Given the description of an element on the screen output the (x, y) to click on. 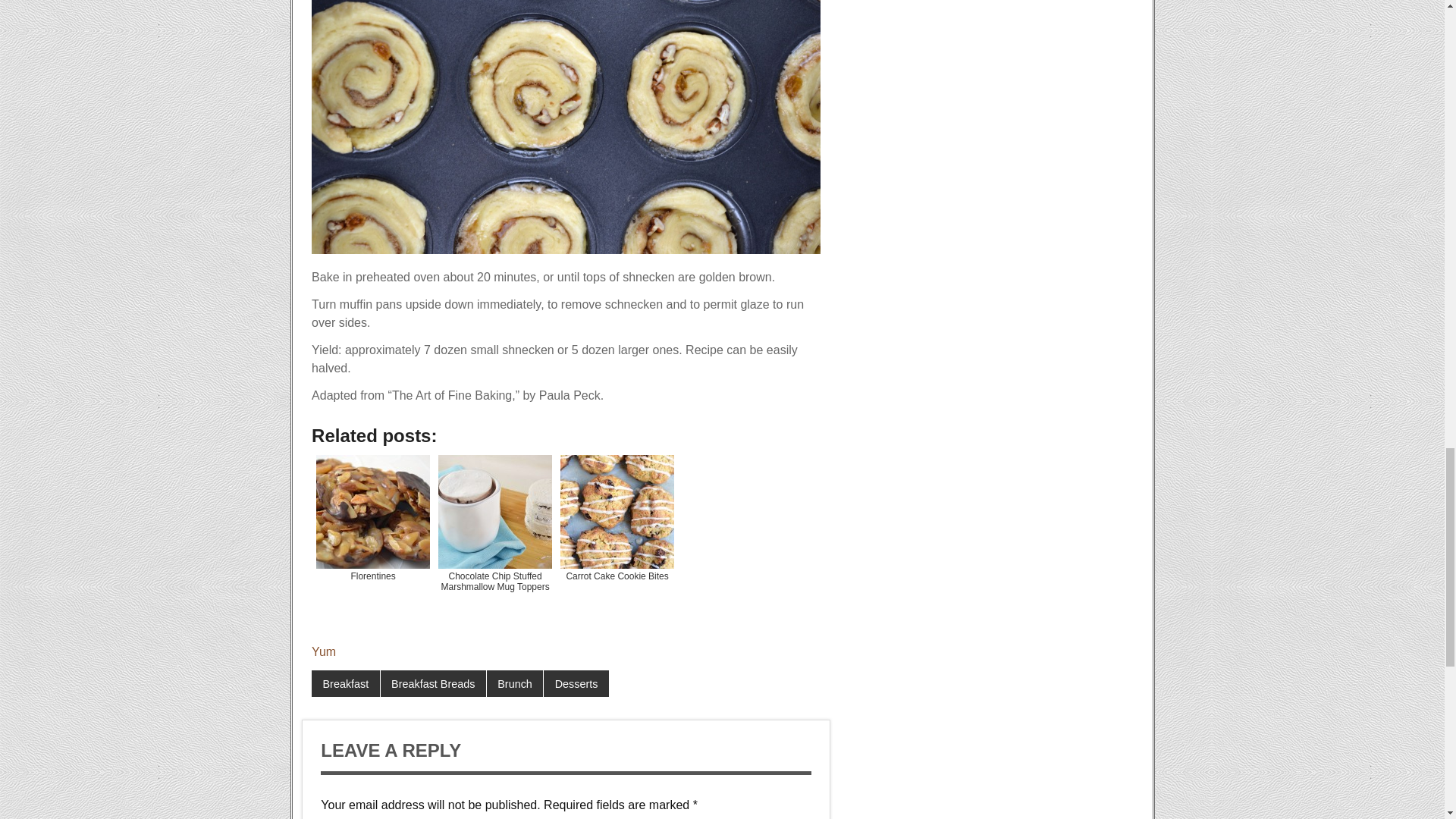
Yum (323, 651)
Breakfast (345, 683)
Brunch (514, 683)
Breakfast Breads (433, 683)
Desserts (575, 683)
Schnecken After Rising (566, 126)
